Given the description of an element on the screen output the (x, y) to click on. 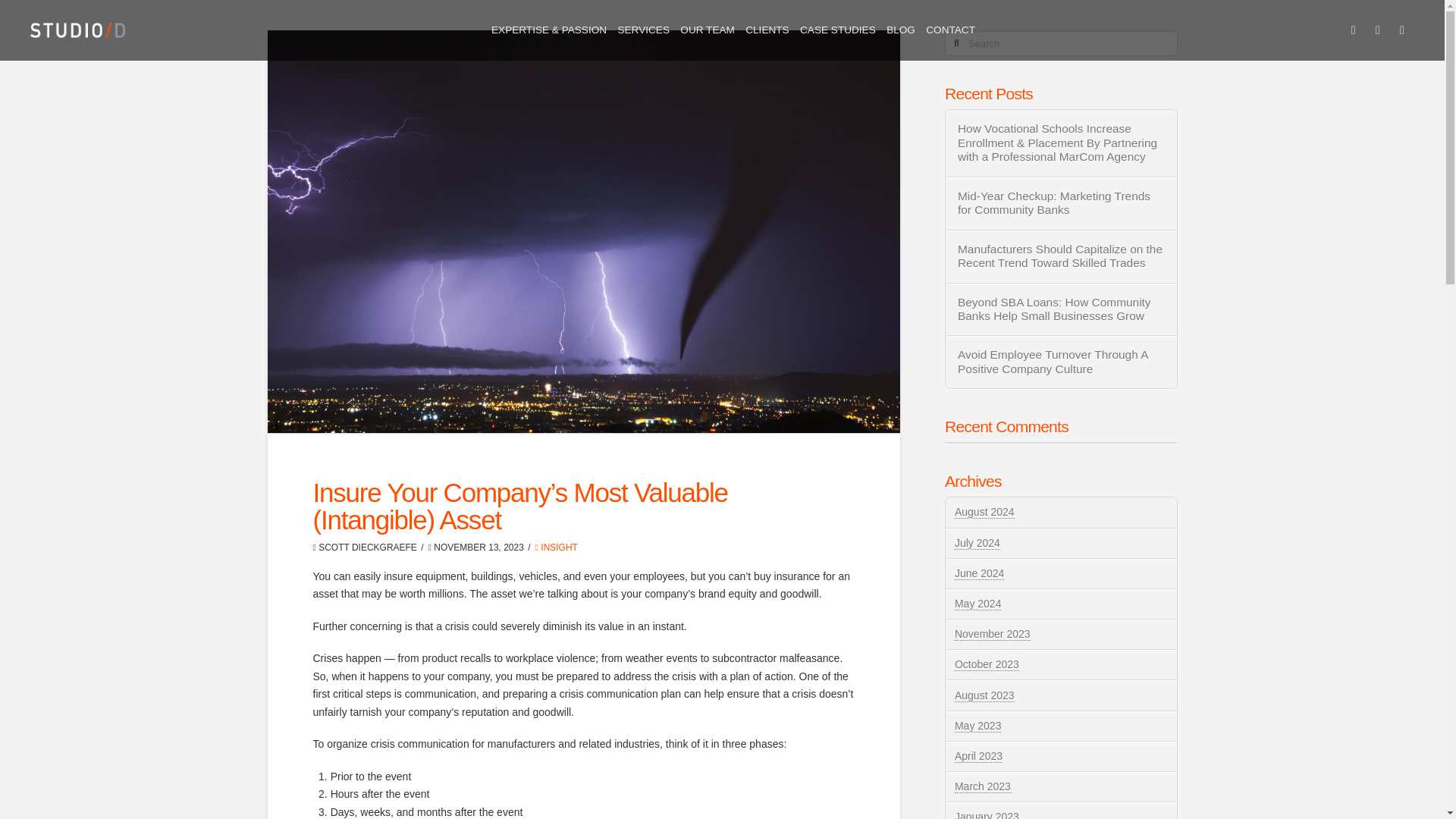
BLOG (900, 30)
CONTACT (949, 30)
SERVICES (643, 30)
CLIENTS (766, 30)
OUR TEAM (707, 30)
Mid-Year Checkup: Marketing Trends for Community Banks (1061, 203)
CASE STUDIES (837, 30)
INSIGHT (556, 547)
